Given the description of an element on the screen output the (x, y) to click on. 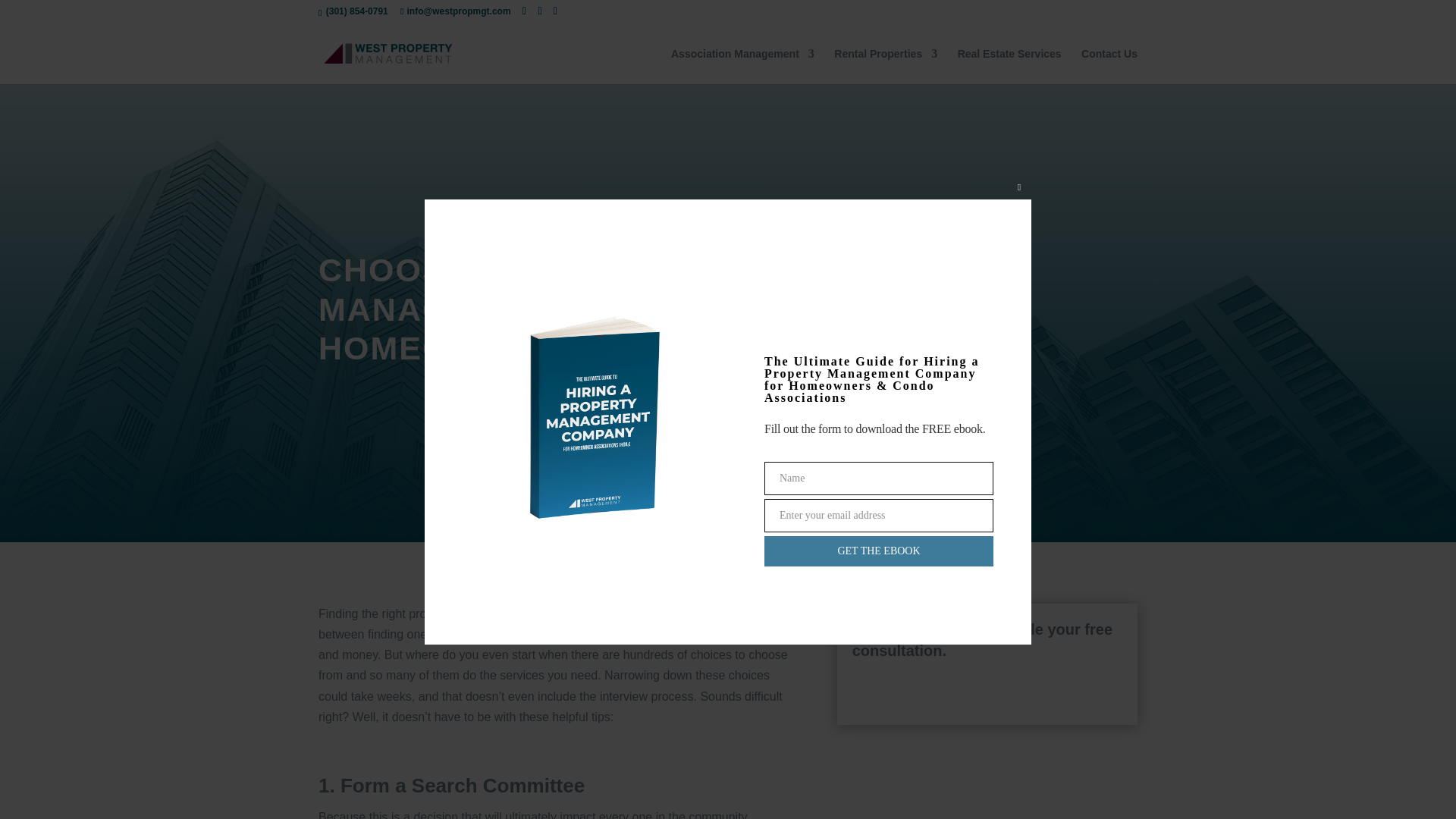
Rental Properties (885, 66)
Association Management (742, 66)
Real Estate Services (1009, 66)
Contact Us (1109, 66)
